Given the description of an element on the screen output the (x, y) to click on. 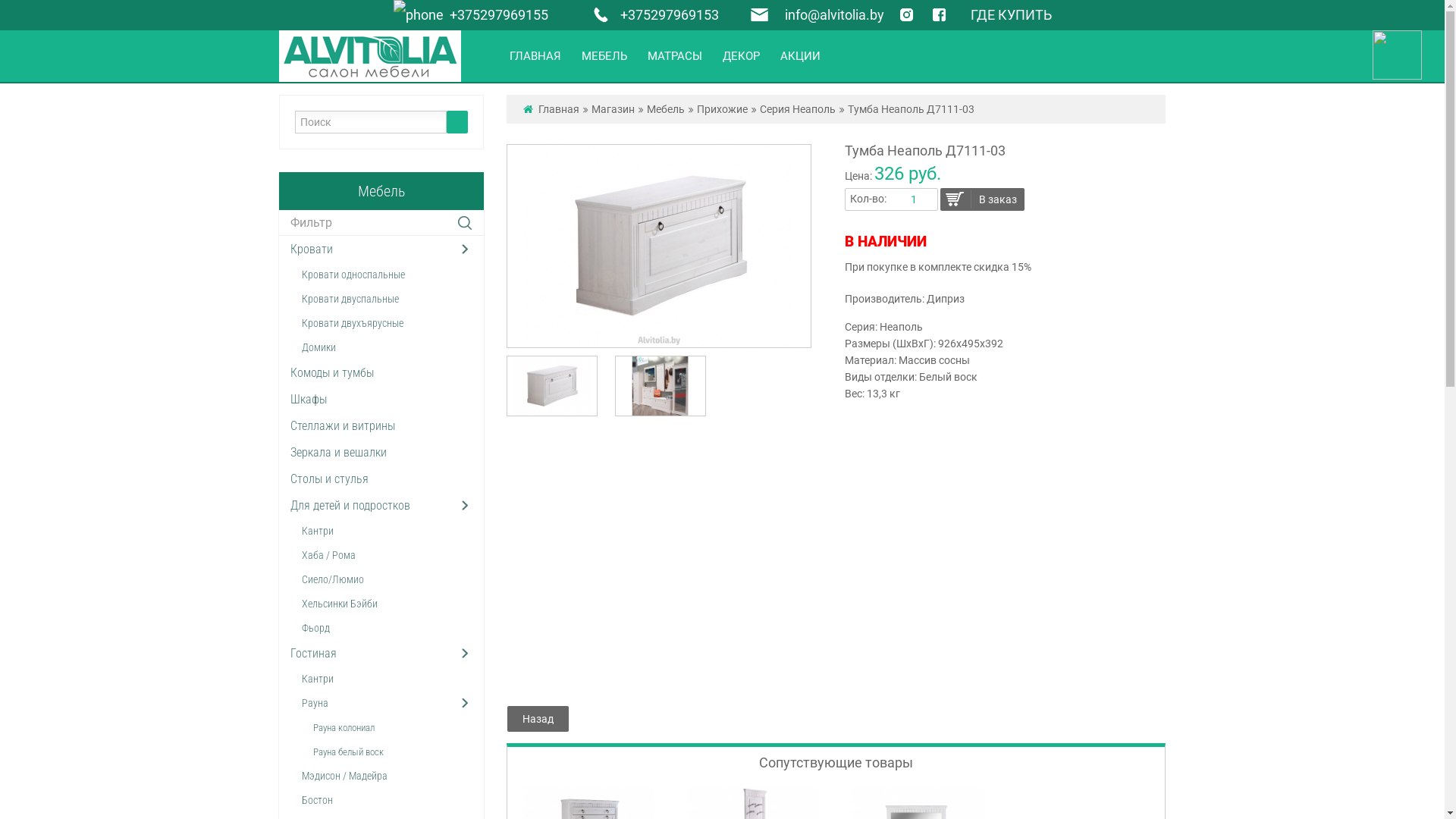
  +375297969153 Element type: text (652, 14)
  +375297969155 Element type: text (469, 14)
info@alvitolia.by Element type: text (833, 14)
